Given the description of an element on the screen output the (x, y) to click on. 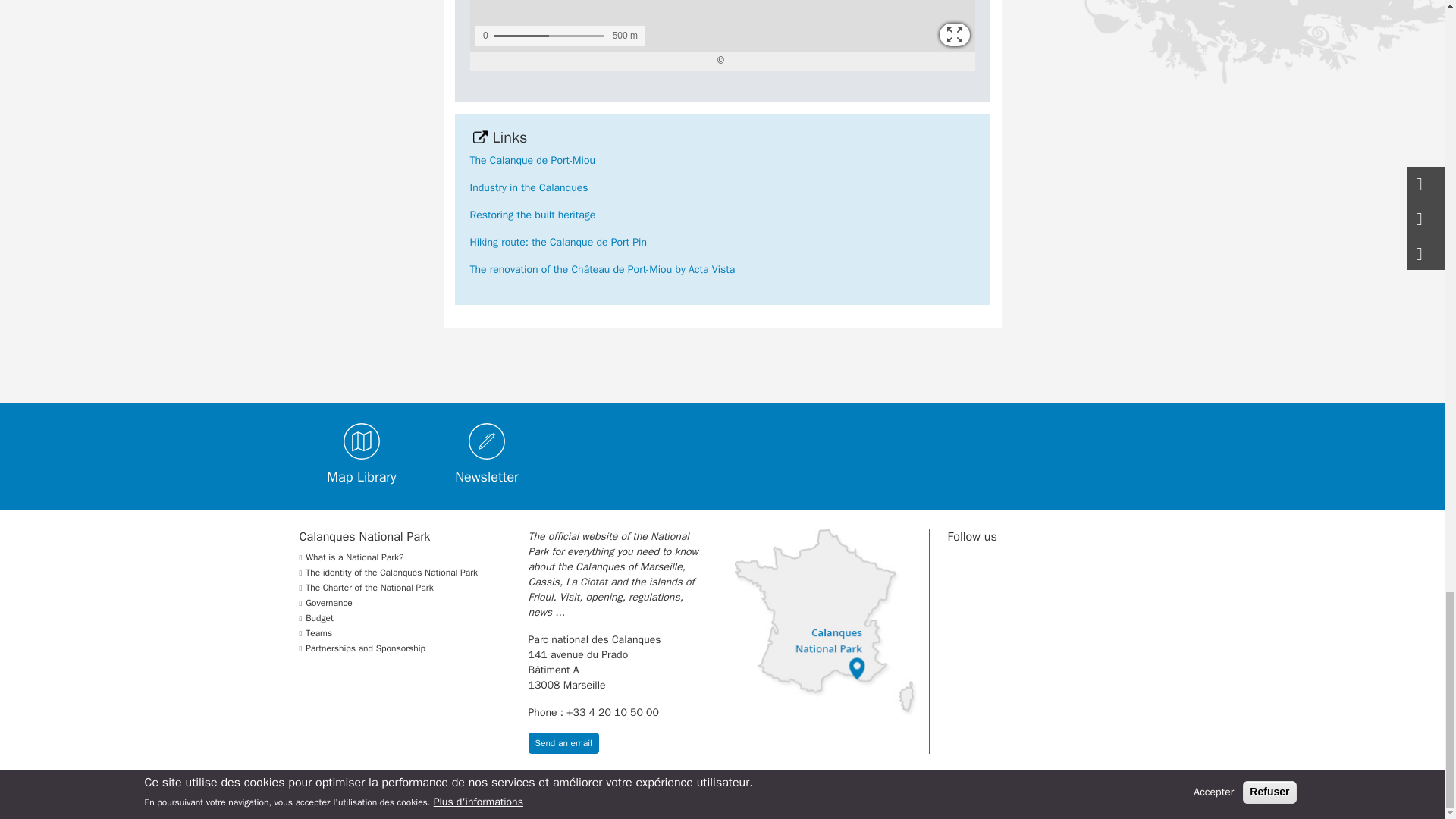
Send an email (562, 742)
